Given the description of an element on the screen output the (x, y) to click on. 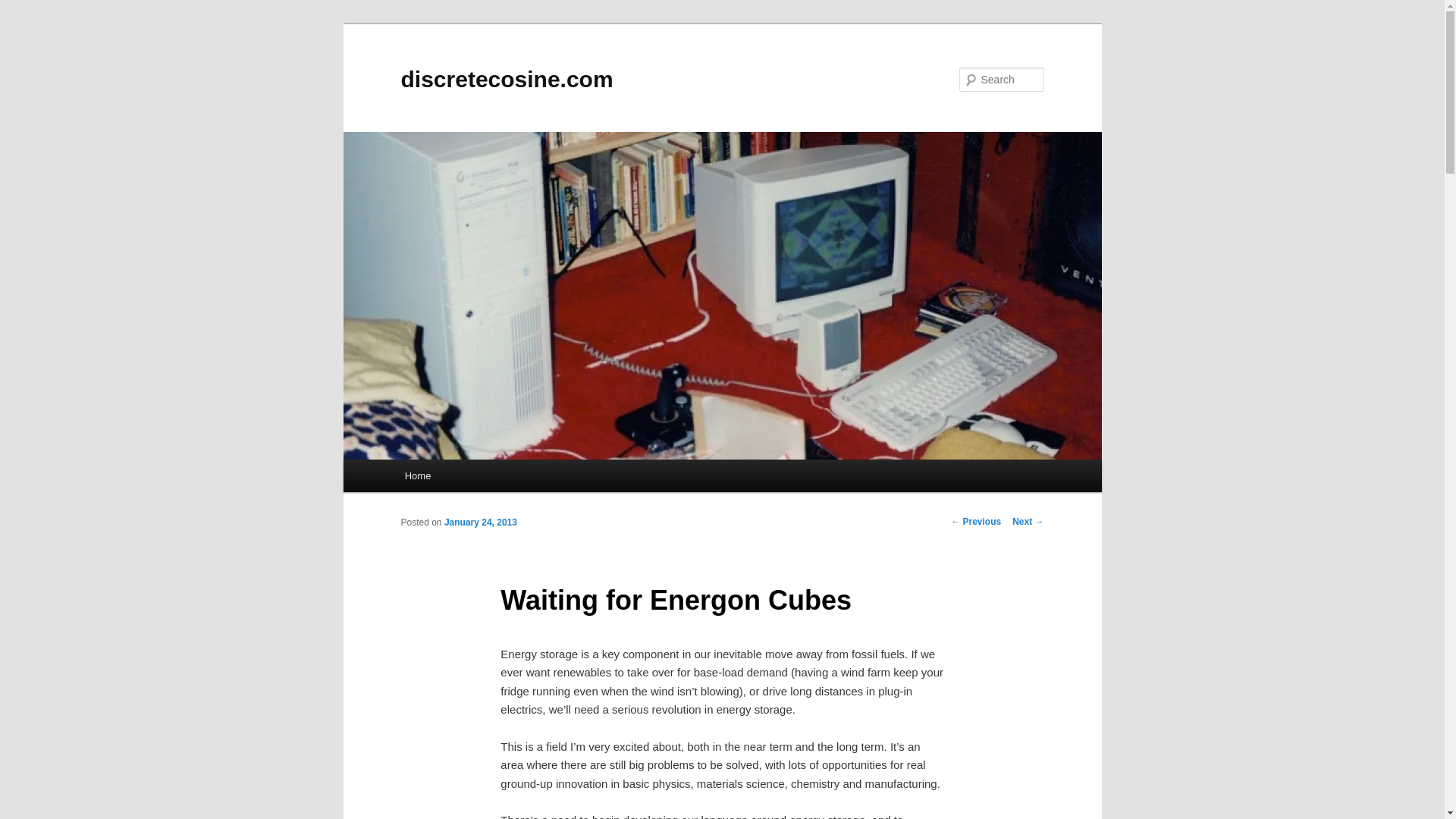
10:05 am (480, 521)
January 24, 2013 (480, 521)
discretecosine.com (506, 78)
Home (417, 475)
Search (24, 8)
